Given the description of an element on the screen output the (x, y) to click on. 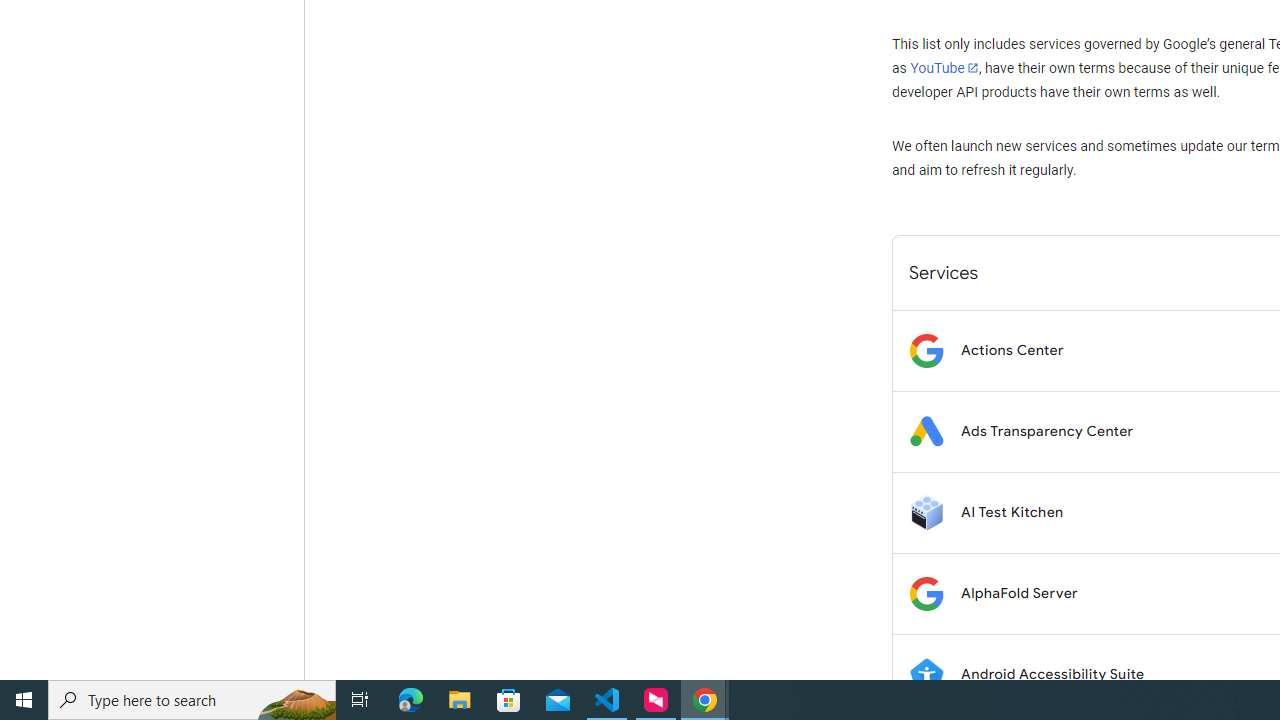
Logo for Ads Transparency Center (926, 431)
Logo for AI Test Kitchen (926, 512)
YouTube (944, 68)
Logo for Android Accessibility Suite (926, 673)
Logo for AlphaFold Server (926, 593)
Logo for Actions Center (926, 349)
